Given the description of an element on the screen output the (x, y) to click on. 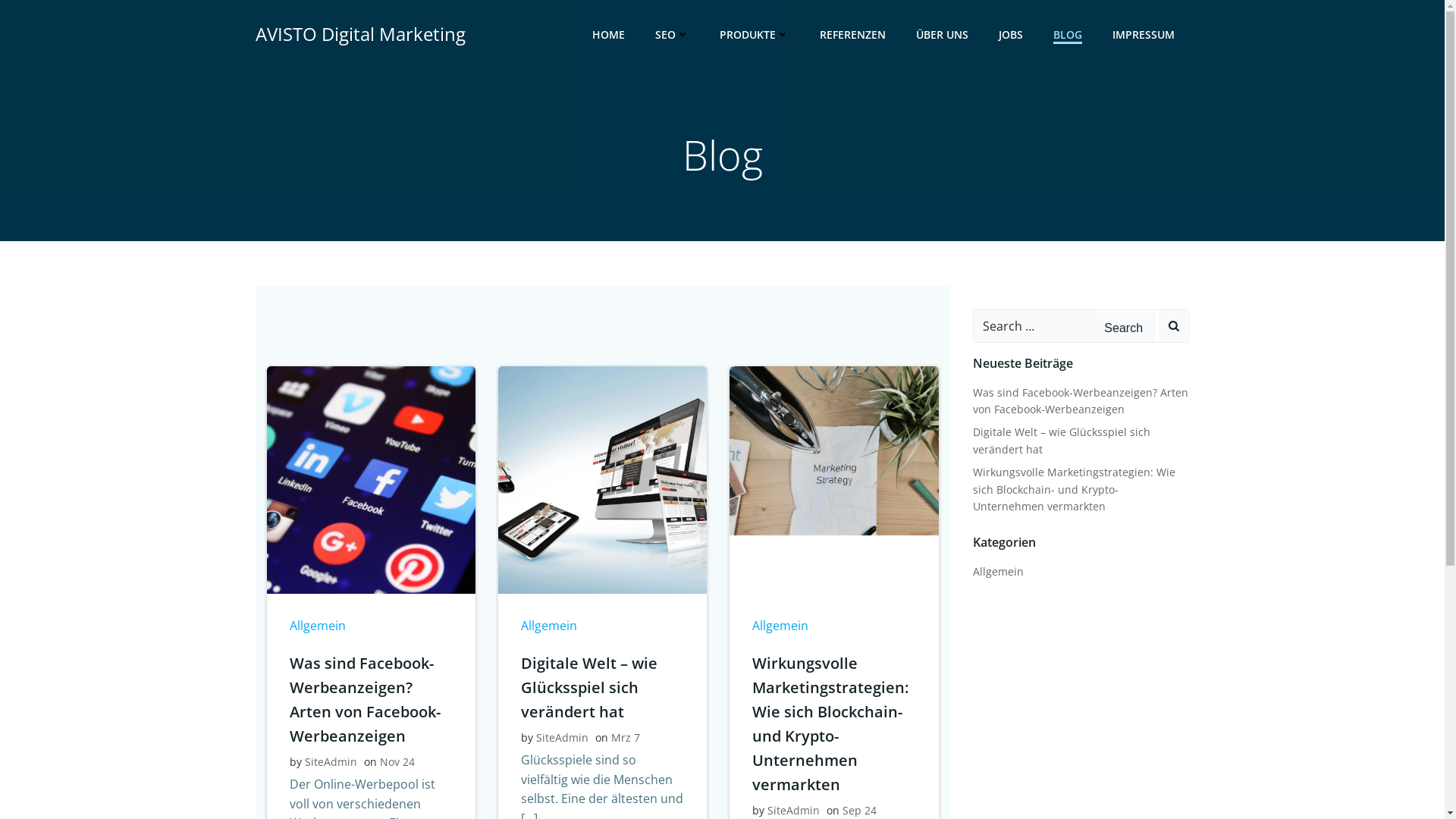
SiteAdmin Element type: text (330, 761)
PRODUKTE Element type: text (753, 33)
Allgemein Element type: text (997, 571)
BLOG Element type: text (1066, 33)
SiteAdmin Element type: text (562, 737)
SEO Element type: text (672, 33)
IMPRESSUM Element type: text (1142, 33)
Allgemein Element type: text (548, 625)
REFERENZEN Element type: text (851, 33)
SiteAdmin Element type: text (793, 810)
Colibri Element type: text (926, 773)
Search  Element type: text (1124, 328)
Allgemein Element type: text (317, 625)
JOBS Element type: text (1009, 33)
Mrz 7 Element type: text (625, 737)
Allgemein Element type: text (780, 625)
Sep 24 Element type: text (859, 810)
HOME Element type: text (607, 33)
Nov 24 Element type: text (396, 761)
AVISTO Digital Marketing Element type: text (359, 33)
